Given the description of an element on the screen output the (x, y) to click on. 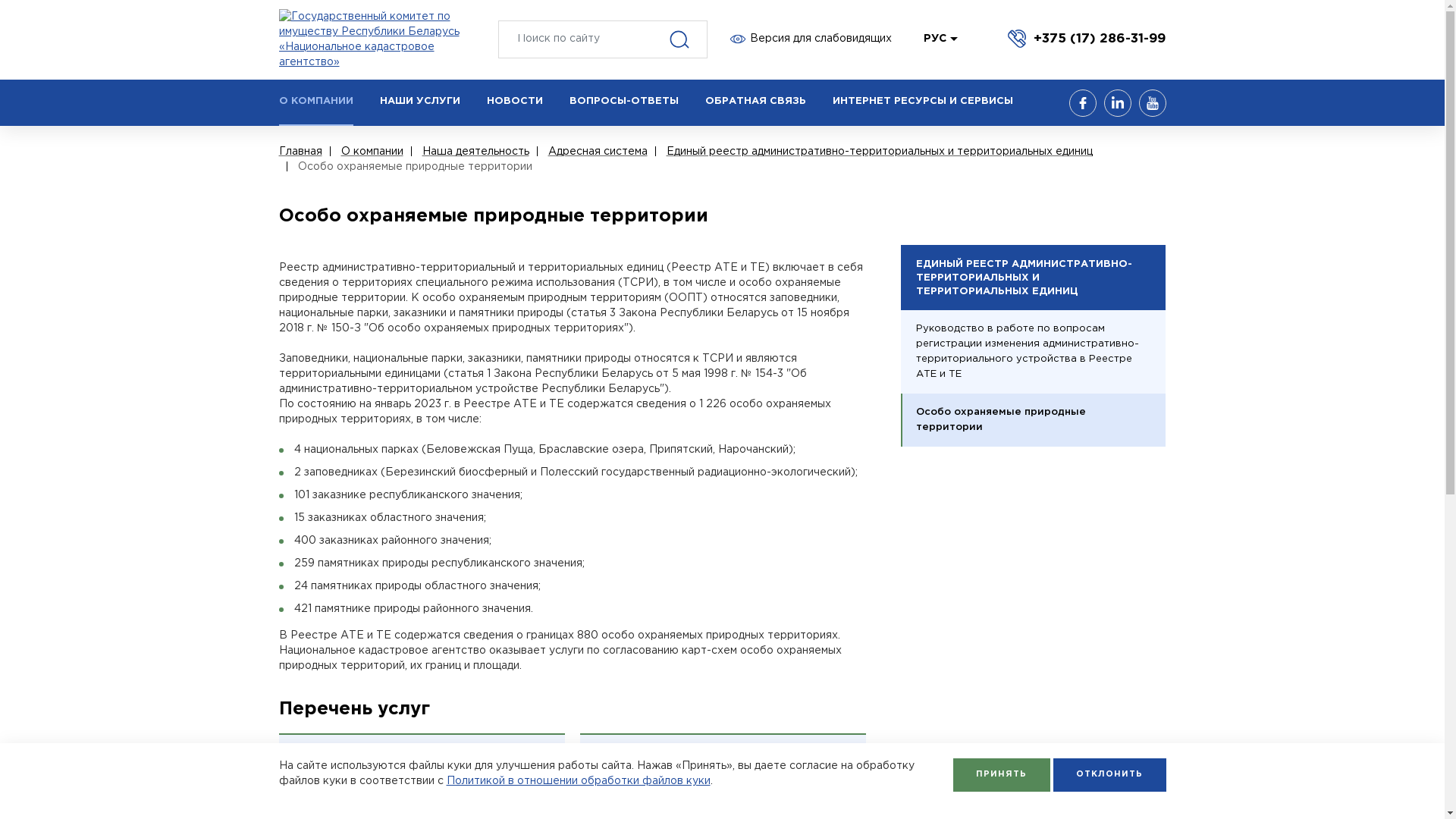
+375 (17) 286-31-99 Element type: text (1086, 38)
